Given the description of an element on the screen output the (x, y) to click on. 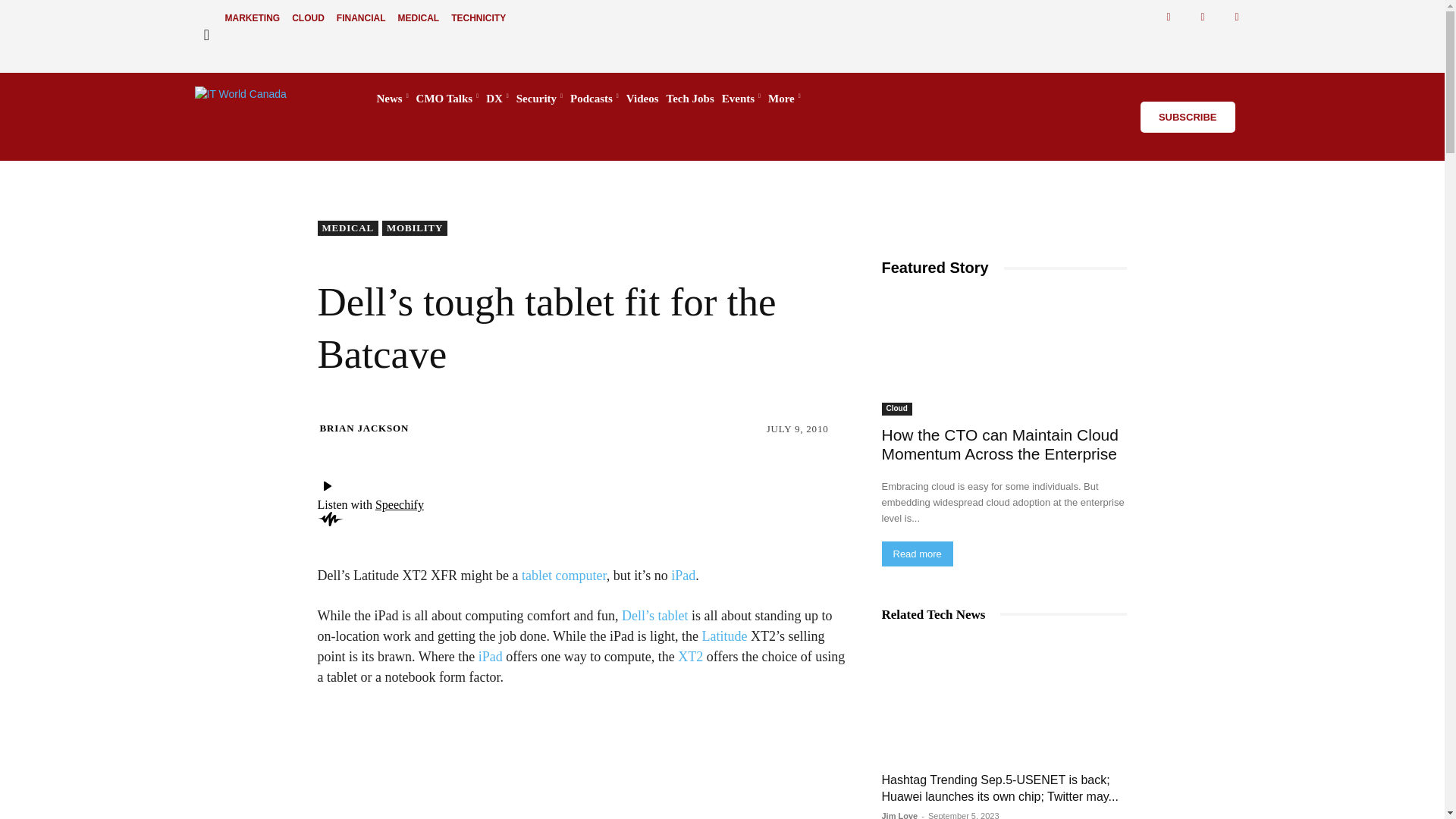
Facebook (1169, 17)
CLOUD (307, 18)
TECHNICITY (478, 18)
MEDICAL (418, 18)
MARKETING (251, 18)
IT World Canada - IT News (269, 98)
Rss (1237, 17)
Twitter (1202, 17)
FINANCIAL (360, 18)
